Given the description of an element on the screen output the (x, y) to click on. 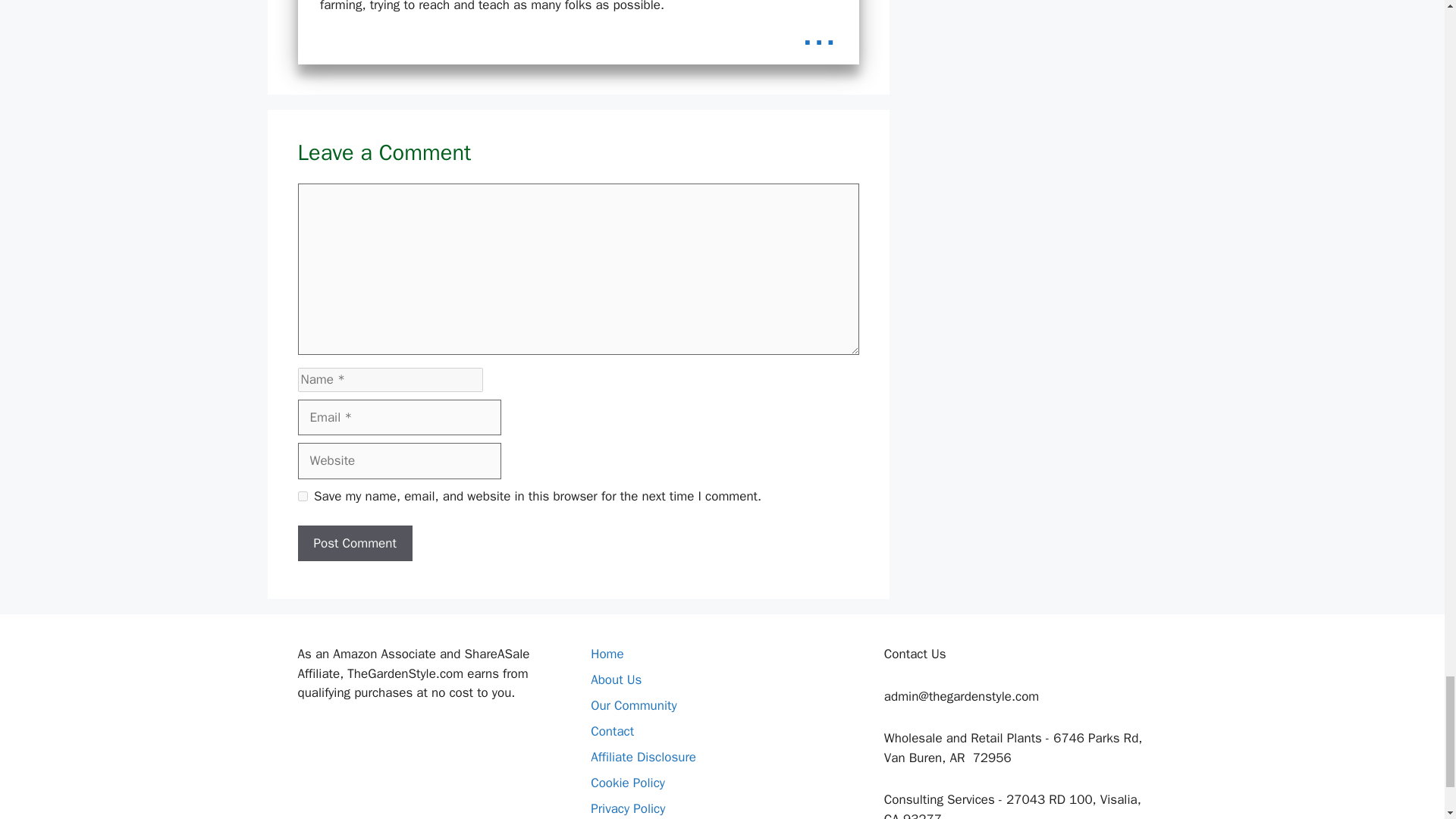
yes (302, 496)
Read more (818, 32)
Post Comment (354, 543)
